Given the description of an element on the screen output the (x, y) to click on. 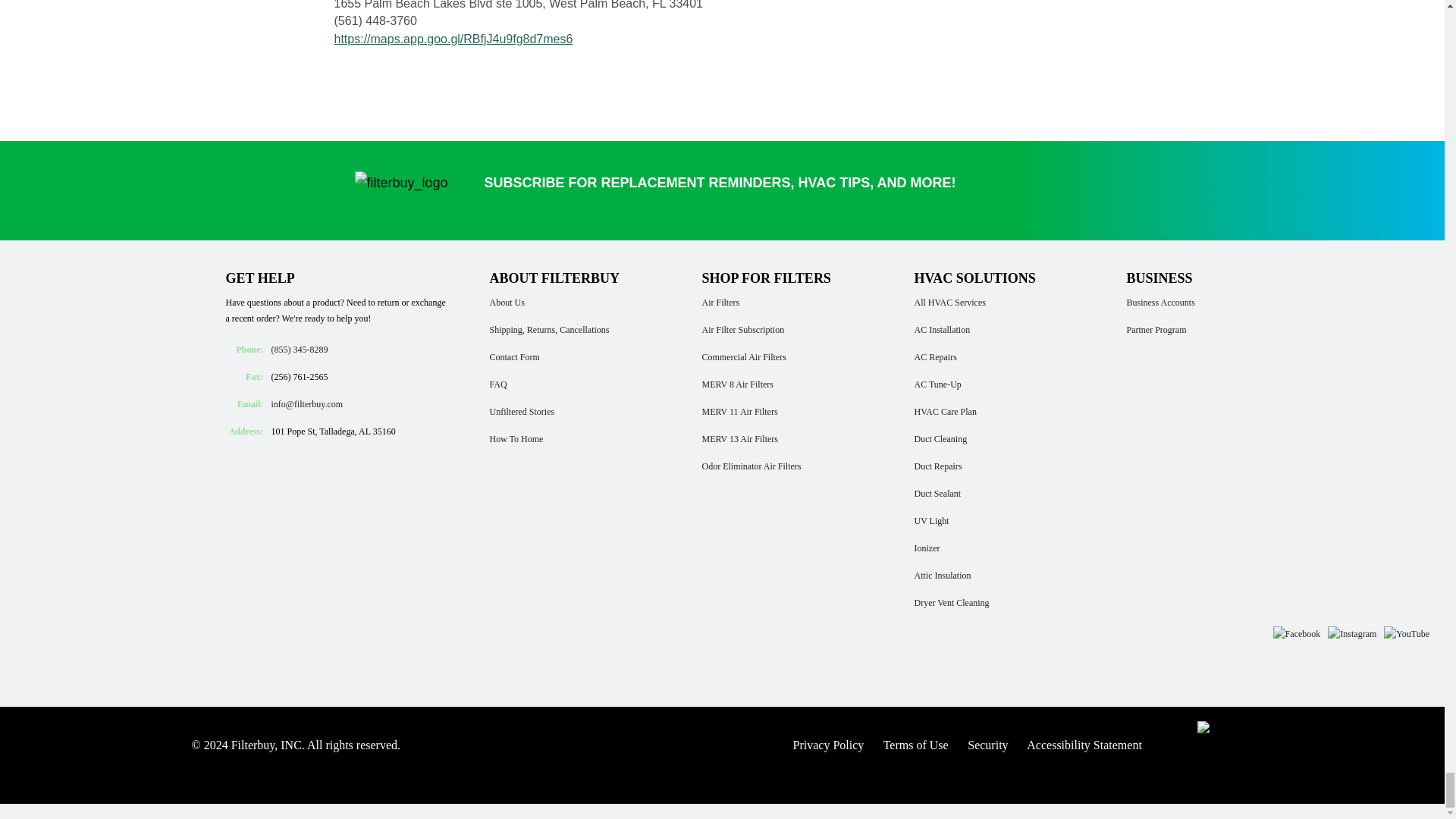
YouTube (1406, 634)
Facebook (1296, 634)
Instagram (1351, 634)
